Given the description of an element on the screen output the (x, y) to click on. 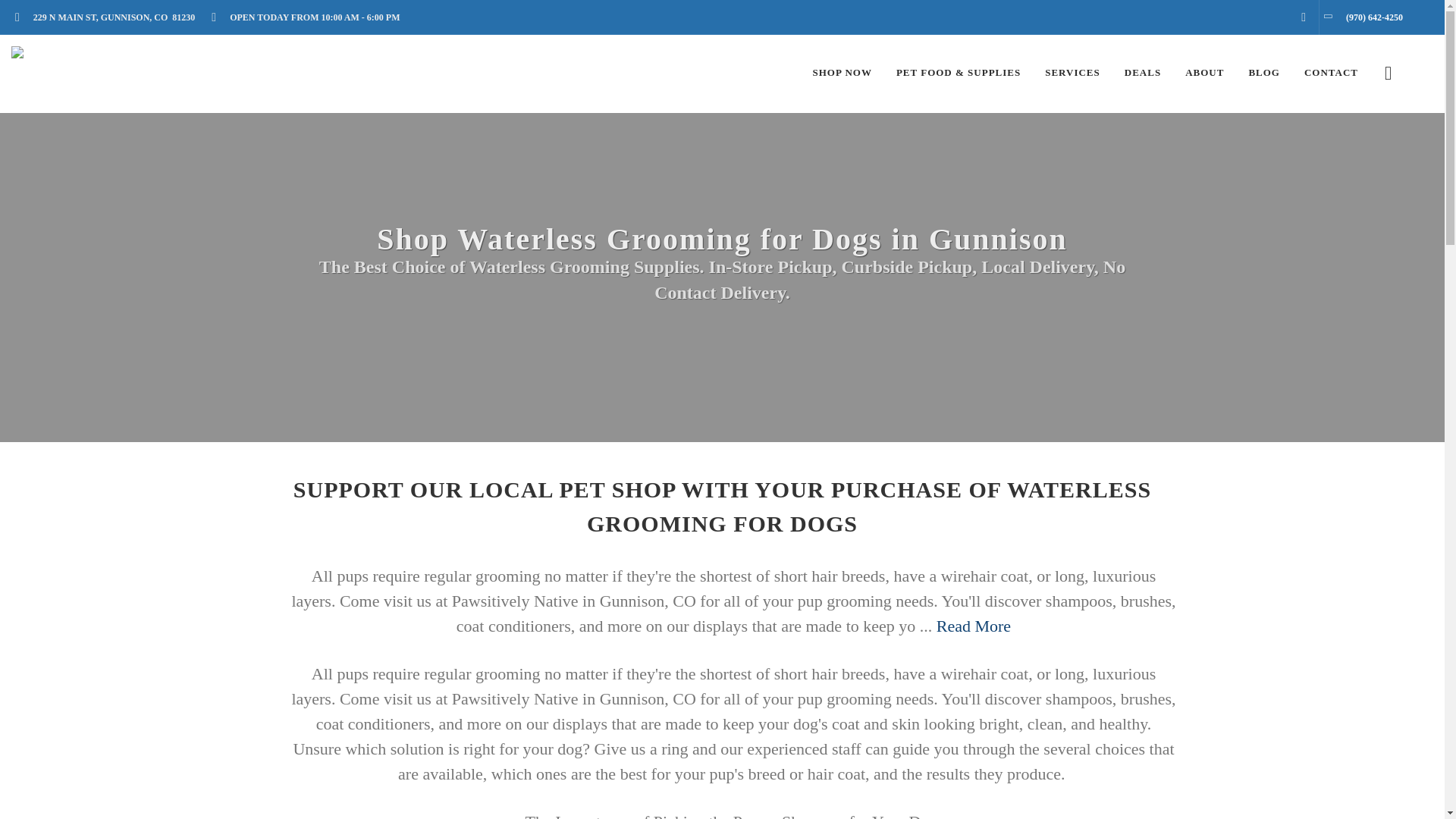
SHOP NOW (841, 72)
CONTACT (1331, 72)
Pawsitively Native Contact Near Gunnison (1331, 72)
229 N MAIN ST, GUNNISON, CO  81230 (109, 16)
Pawsitively Native Services Near Gunnison (1072, 72)
SERVICES (1072, 72)
Pawsitively Native Shop Now Near Gunnison (841, 72)
Read More (973, 625)
OPEN TODAY FROM 10:00 AM - 6:00 PM (310, 16)
